Given the description of an element on the screen output the (x, y) to click on. 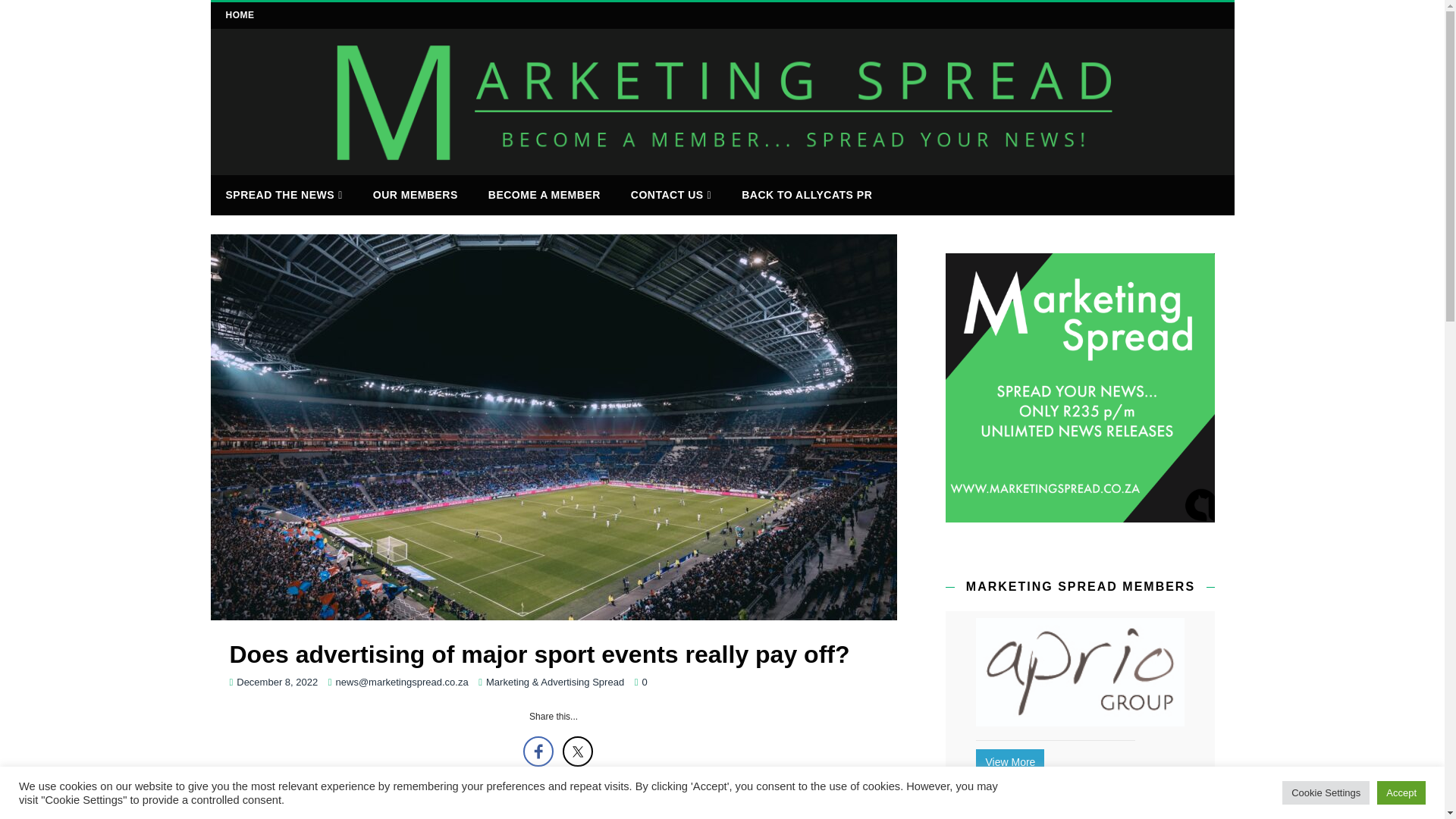
SPREAD THE NEWS (284, 195)
BECOME A MEMBER (544, 194)
BACK TO ALLYCATS PR (806, 194)
Marketing Spread (722, 165)
December 8, 2022 (276, 681)
OUR MEMBERS (415, 194)
HOME (240, 15)
CONTACT US (670, 195)
